Given the description of an element on the screen output the (x, y) to click on. 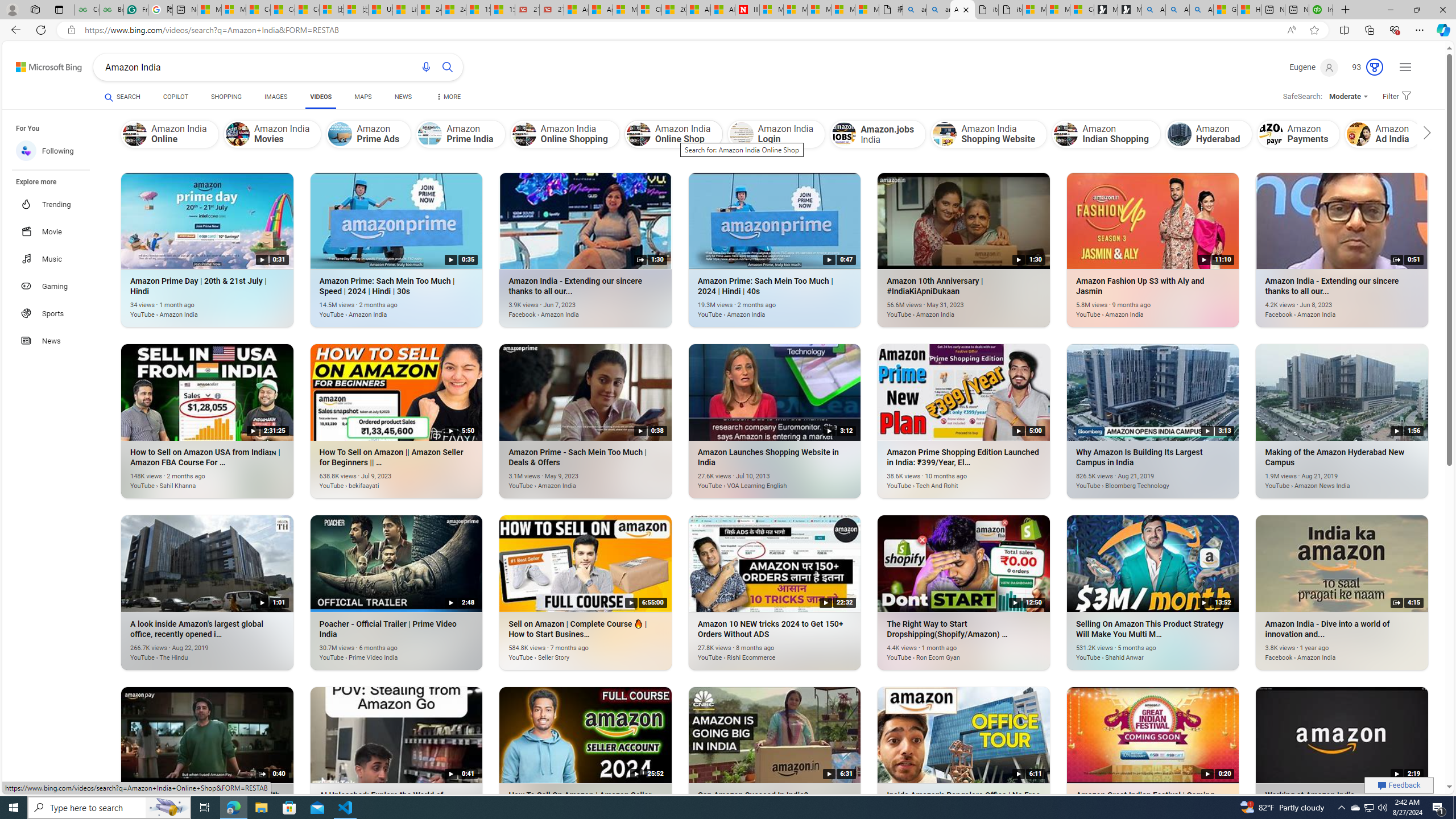
Amazon India Movies (236, 133)
Amazon India Login (741, 133)
21 Movies That Outdid the Books They Were Based On (551, 9)
SHOPPING (226, 98)
